Given the description of an element on the screen output the (x, y) to click on. 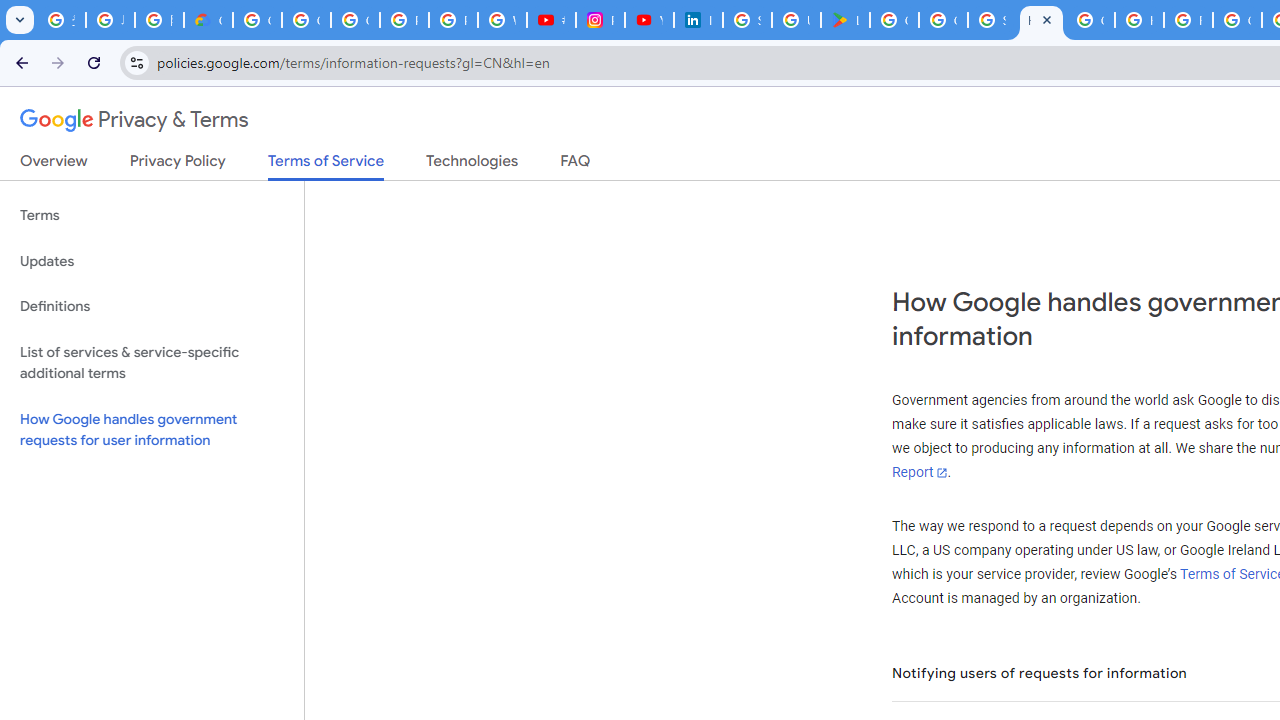
YouTube Culture & Trends - On The Rise: Handcam Videos (649, 20)
